Given the description of an element on the screen output the (x, y) to click on. 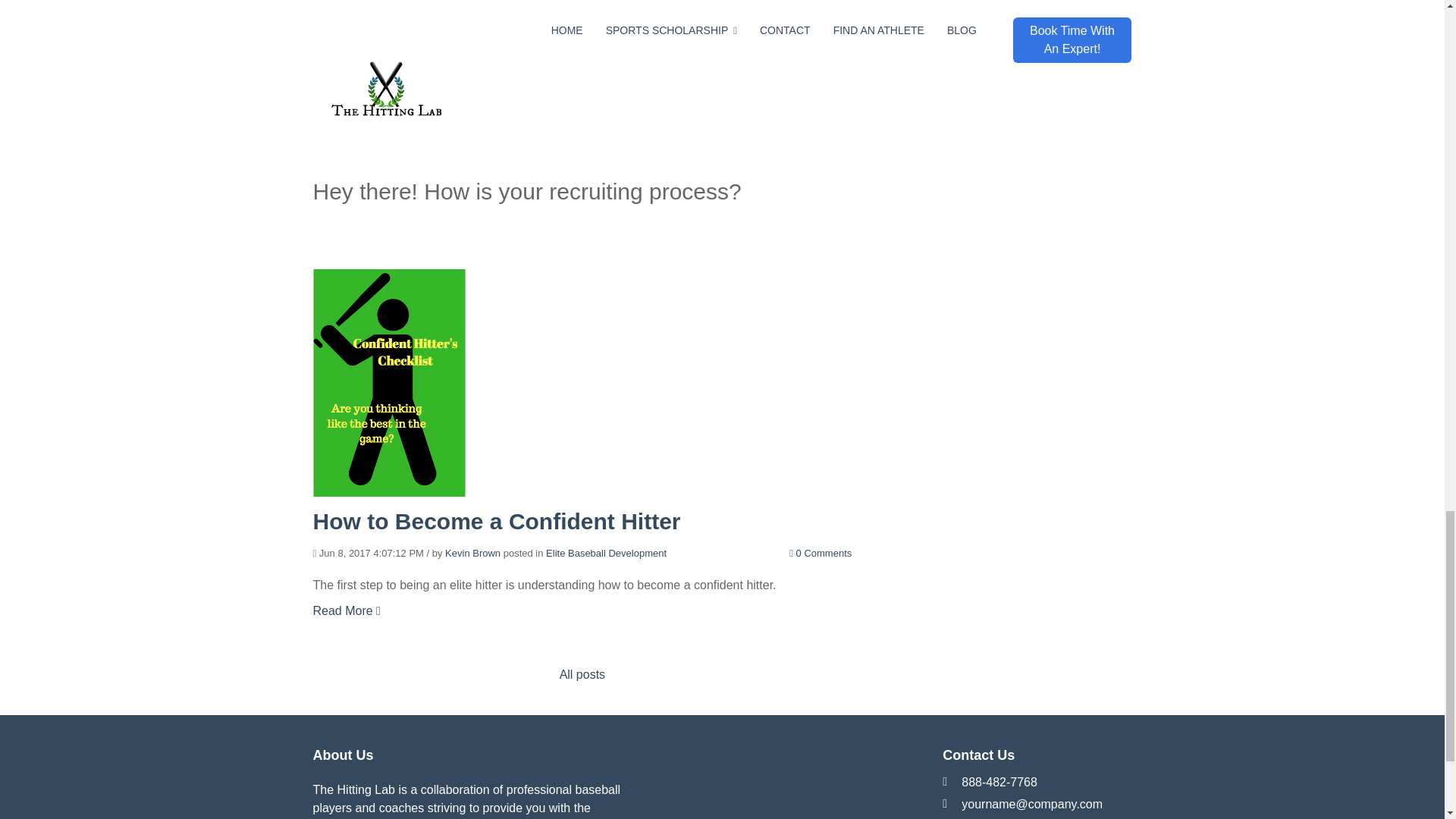
Elite Baseball Development (606, 552)
Elite Baseball Development (575, 112)
0 Comments (820, 112)
Is a private hitting instructor really worth it? (550, 80)
How to Become a Confident Hitter (496, 520)
Kevin (457, 112)
Read More (346, 205)
Kevin Brown (472, 552)
